Given the description of an element on the screen output the (x, y) to click on. 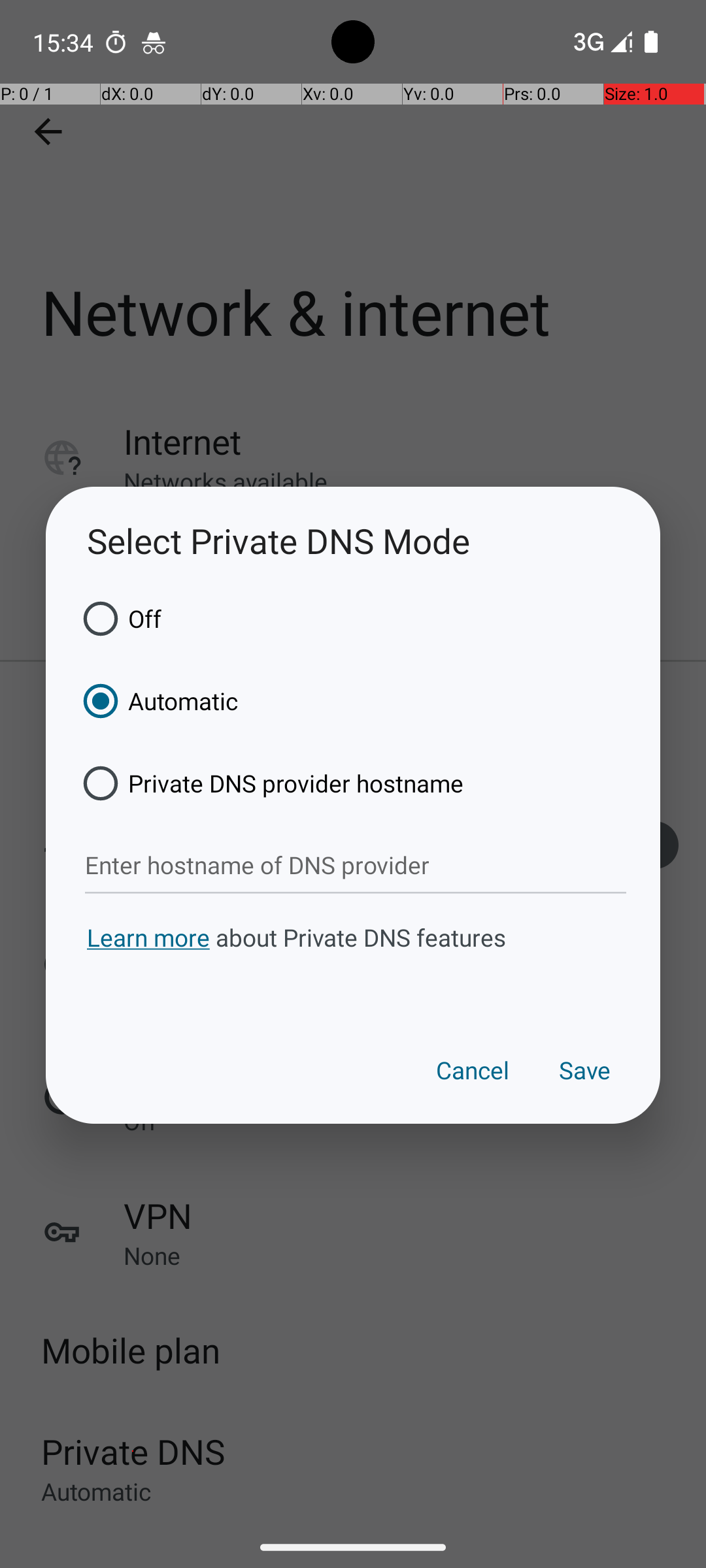
Select Private DNS Mode Element type: android.widget.TextView (352, 540)
Learn more about Private DNS features Element type: android.widget.TextView (352, 961)
Private DNS provider hostname Element type: android.widget.RadioButton (268, 783)
Enter hostname of DNS provider Element type: android.widget.EditText (355, 865)
